Given the description of an element on the screen output the (x, y) to click on. 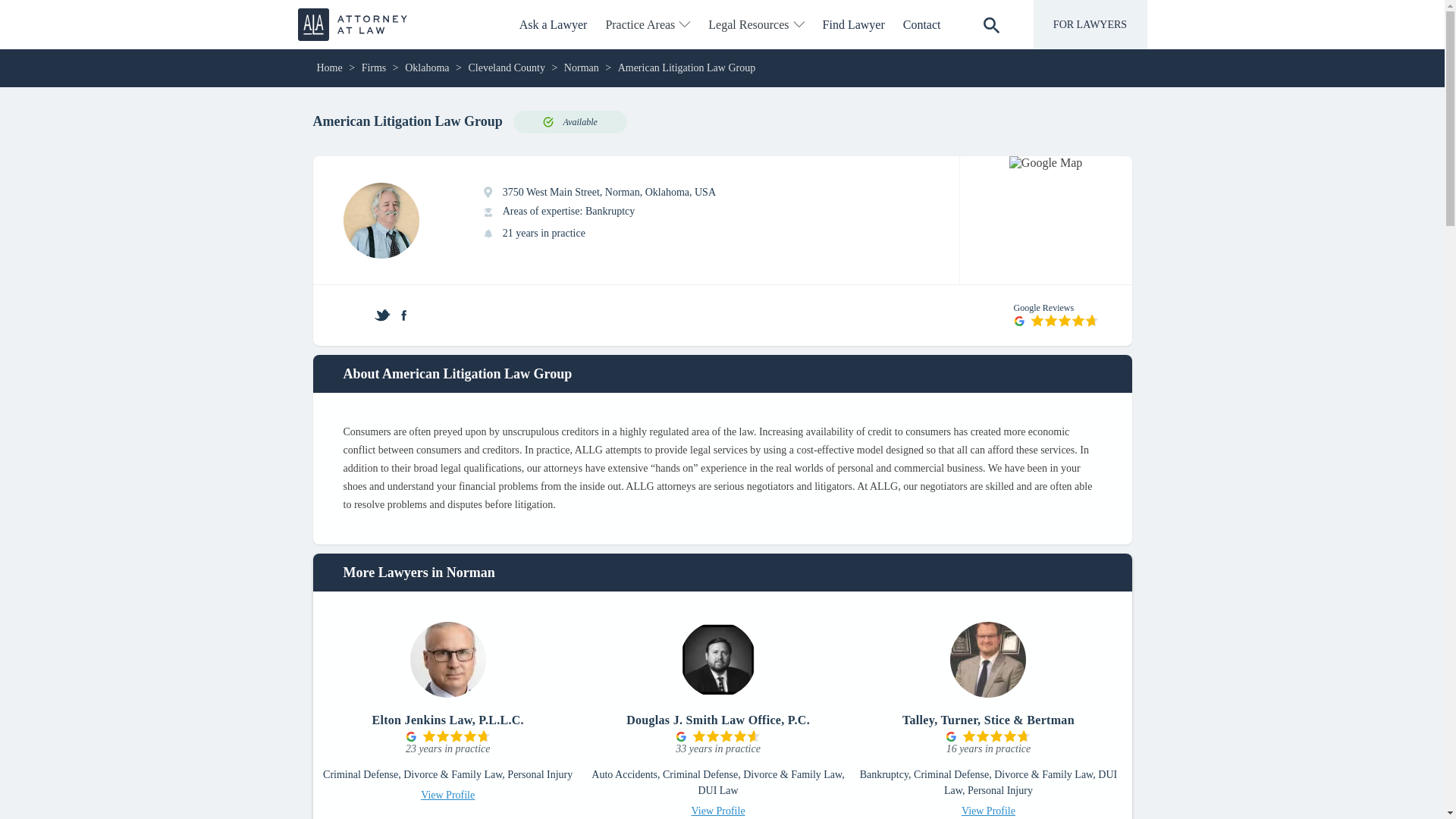
Practice Areas (646, 24)
Ask a Lawyer (553, 24)
